Given the description of an element on the screen output the (x, y) to click on. 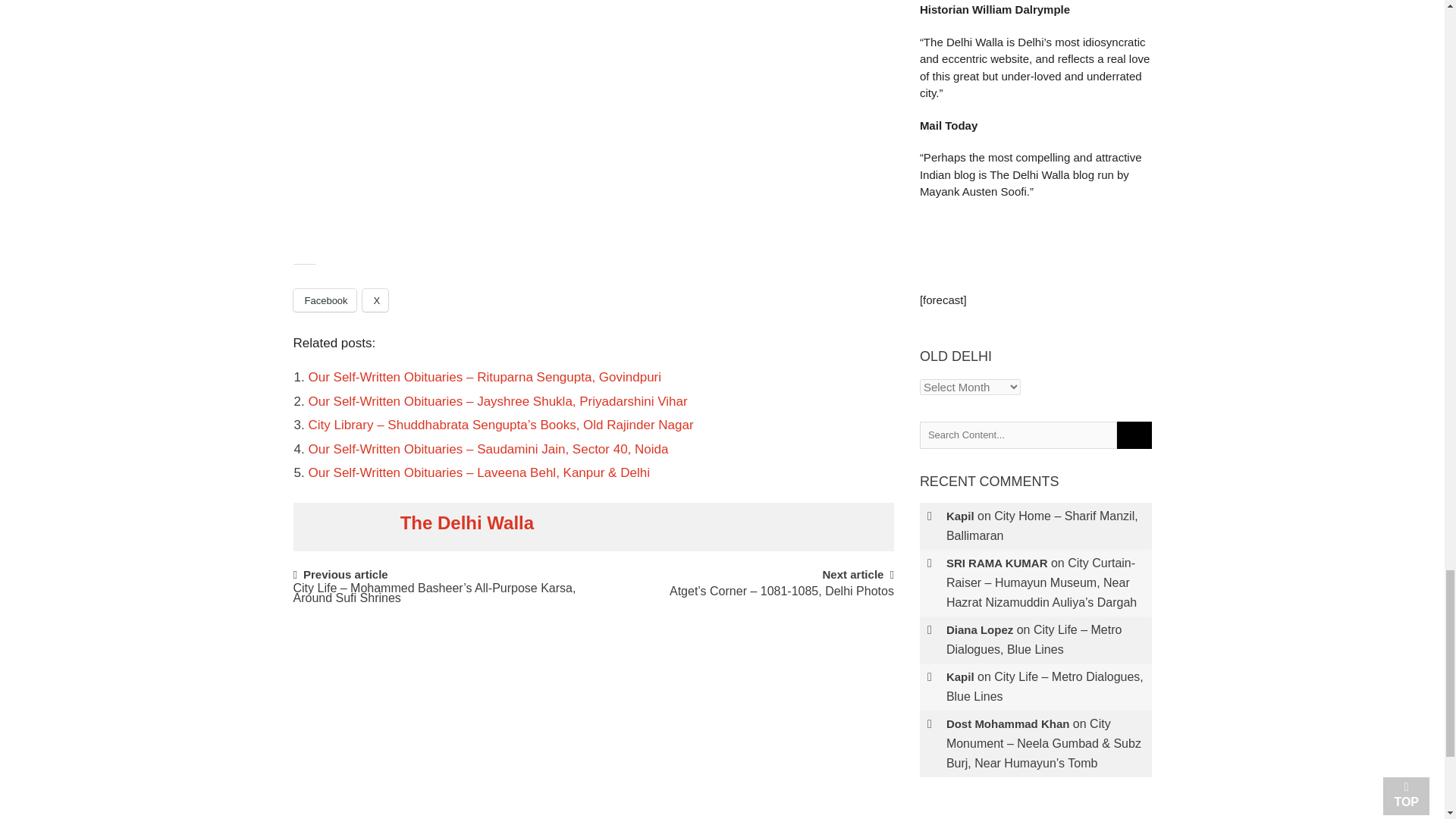
Click to share on X (375, 300)
Search for: (1018, 434)
Click to share on Facebook (323, 300)
